Given the description of an element on the screen output the (x, y) to click on. 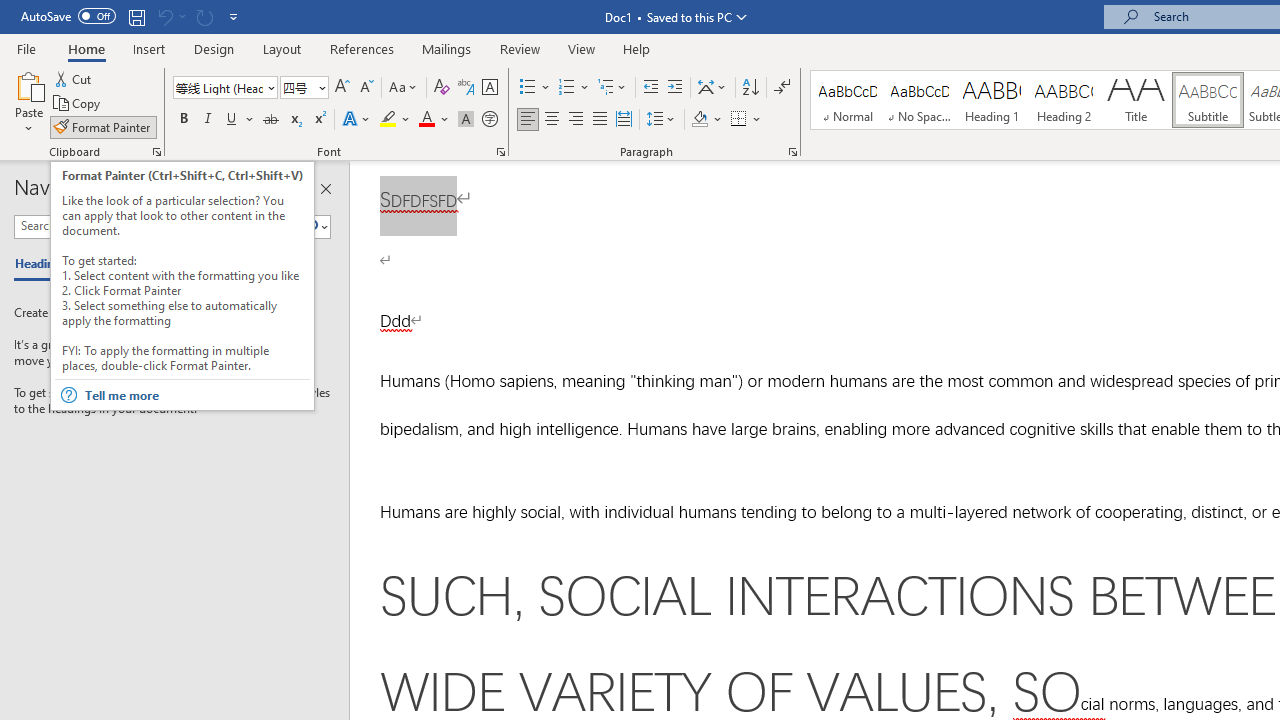
Bullets (527, 87)
Grow Font (342, 87)
Decrease Indent (650, 87)
Font Color Red (426, 119)
File Tab (26, 48)
Task Pane Options (293, 188)
Asian Layout (712, 87)
Bold (183, 119)
Layout (282, 48)
References (362, 48)
Mailings (447, 48)
Center (552, 119)
Font (224, 87)
Font Size (304, 87)
Search (311, 227)
